Given the description of an element on the screen output the (x, y) to click on. 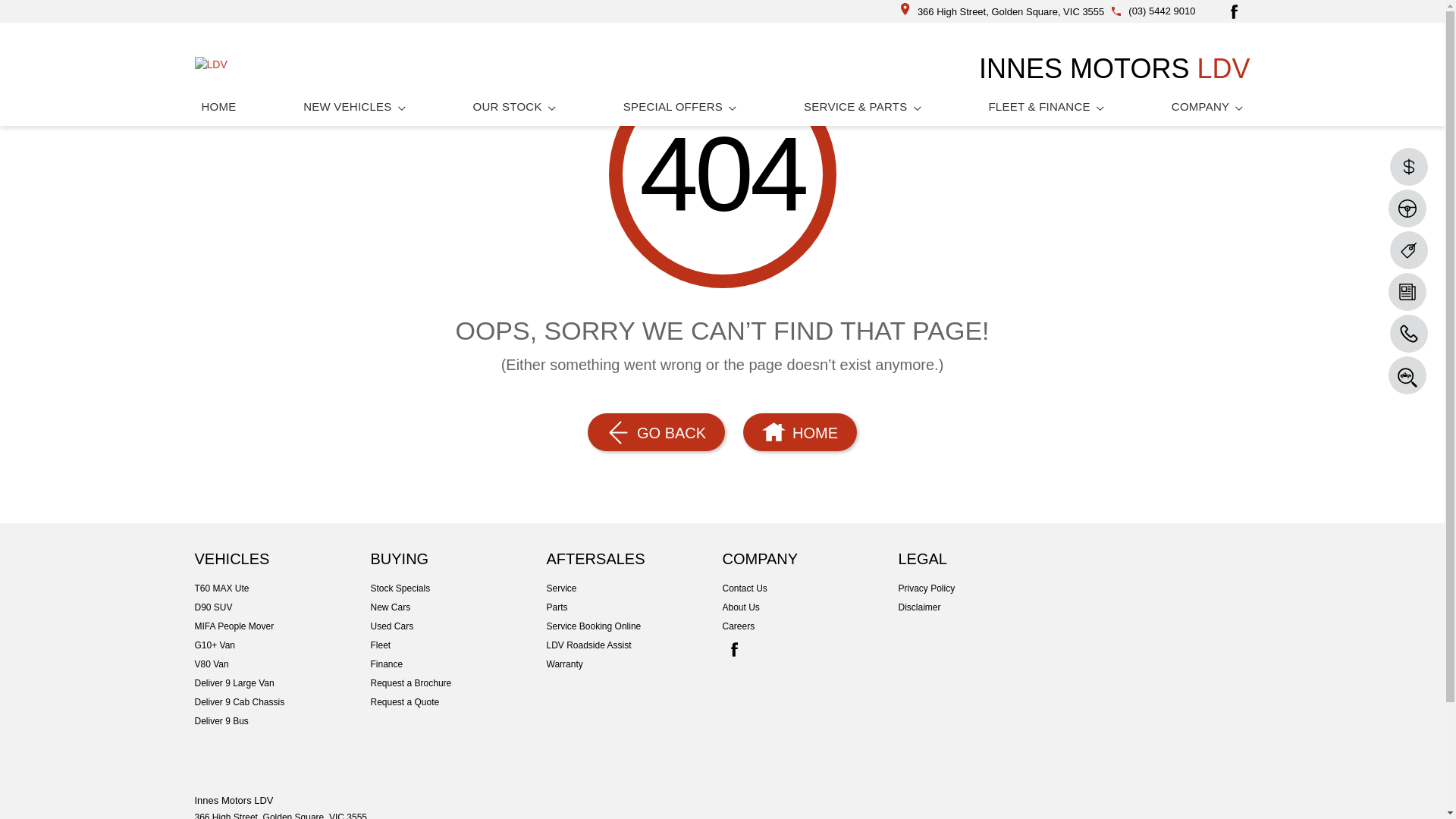
Finance Element type: text (458, 663)
Service Element type: text (633, 588)
Deliver 9 Bus Element type: text (282, 720)
V80 Van Element type: text (282, 663)
LDV Roadside Assist Element type: text (633, 644)
Deliver 9 Large Van Element type: text (282, 682)
Request a Brochure Element type: text (458, 682)
Parts Element type: text (633, 607)
FLEET & FINANCE Element type: text (1045, 106)
T60 MAX Ute Element type: text (282, 588)
(03) 5442 9010 Element type: text (1161, 10)
SERVICE & PARTS Element type: text (862, 106)
Request a Quote Element type: text (458, 701)
MIFA People Mover Element type: text (282, 625)
Used Cars Element type: text (458, 625)
HOME Element type: text (799, 432)
Warranty Element type: text (633, 663)
New Cars Element type: text (458, 607)
COMPANY Element type: text (1207, 106)
GO BACK Element type: text (655, 432)
Privacy Policy Element type: text (985, 588)
366 High Street, Golden Square, VIC 3555 Element type: text (1002, 11)
D90 SUV Element type: text (282, 607)
NEW VEHICLES Element type: text (354, 106)
Fleet Element type: text (458, 644)
Contact Us Element type: text (809, 588)
SPECIAL OFFERS Element type: text (679, 106)
OUR STOCK Element type: text (514, 106)
About Us Element type: text (809, 607)
HOME Element type: text (218, 106)
Deliver 9 Cab Chassis Element type: text (282, 701)
G10+ Van Element type: text (282, 644)
Careers Element type: text (809, 625)
Stock Specials Element type: text (458, 588)
Service Booking Online Element type: text (633, 625)
Disclaimer Element type: text (985, 607)
